Given the description of an element on the screen output the (x, y) to click on. 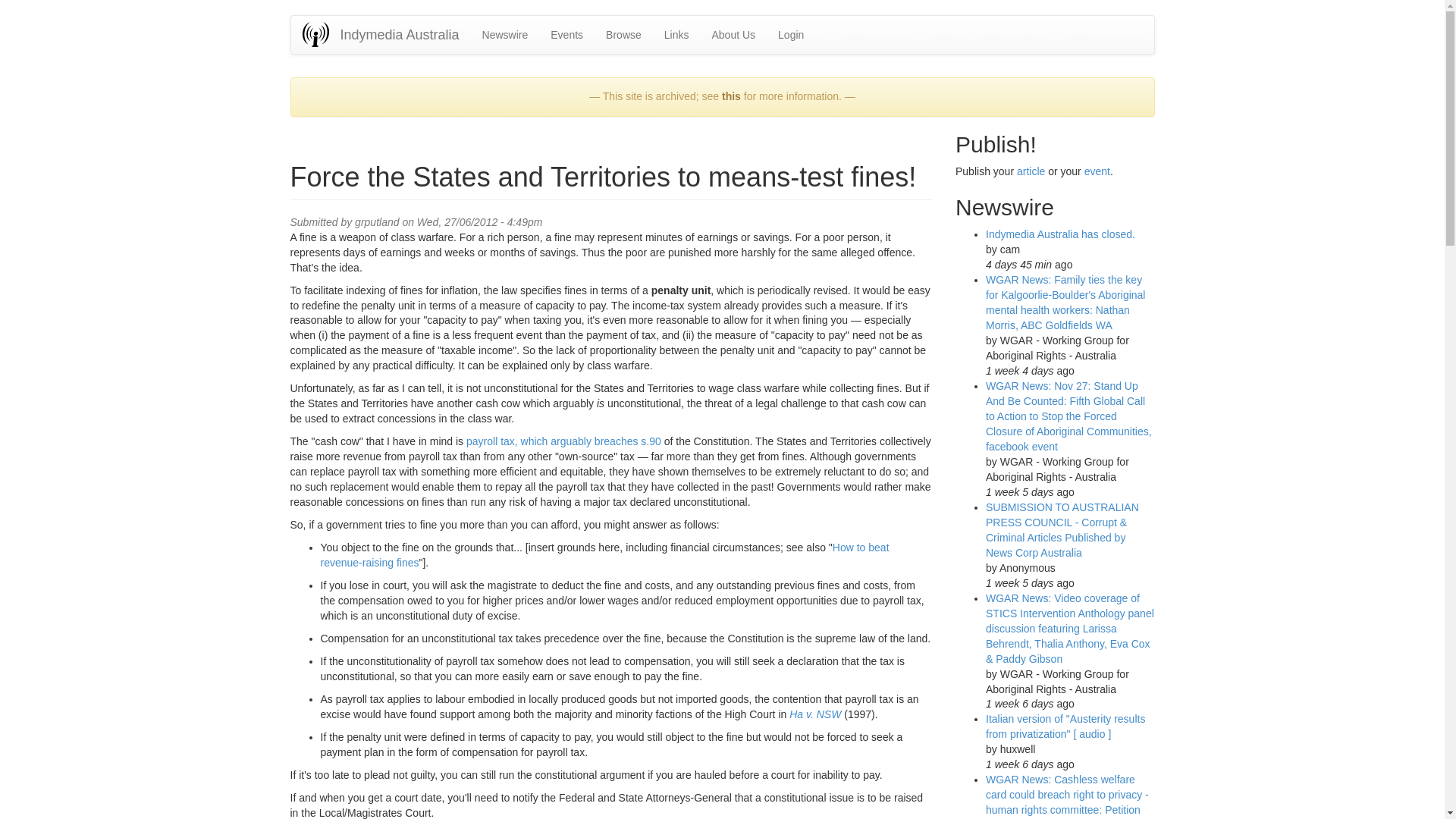
Home (320, 34)
article (1030, 171)
Ha v. NSW (815, 714)
Indymedia Australia has closed. (1060, 234)
Tools for browsing content. (623, 34)
payroll tax, which arguably breaches s.90 (563, 440)
About Indymedia Australia (733, 34)
Browse (623, 34)
event (1096, 171)
Newswire (505, 34)
Links to other Australian independent media (676, 34)
Events (566, 34)
